Given the description of an element on the screen output the (x, y) to click on. 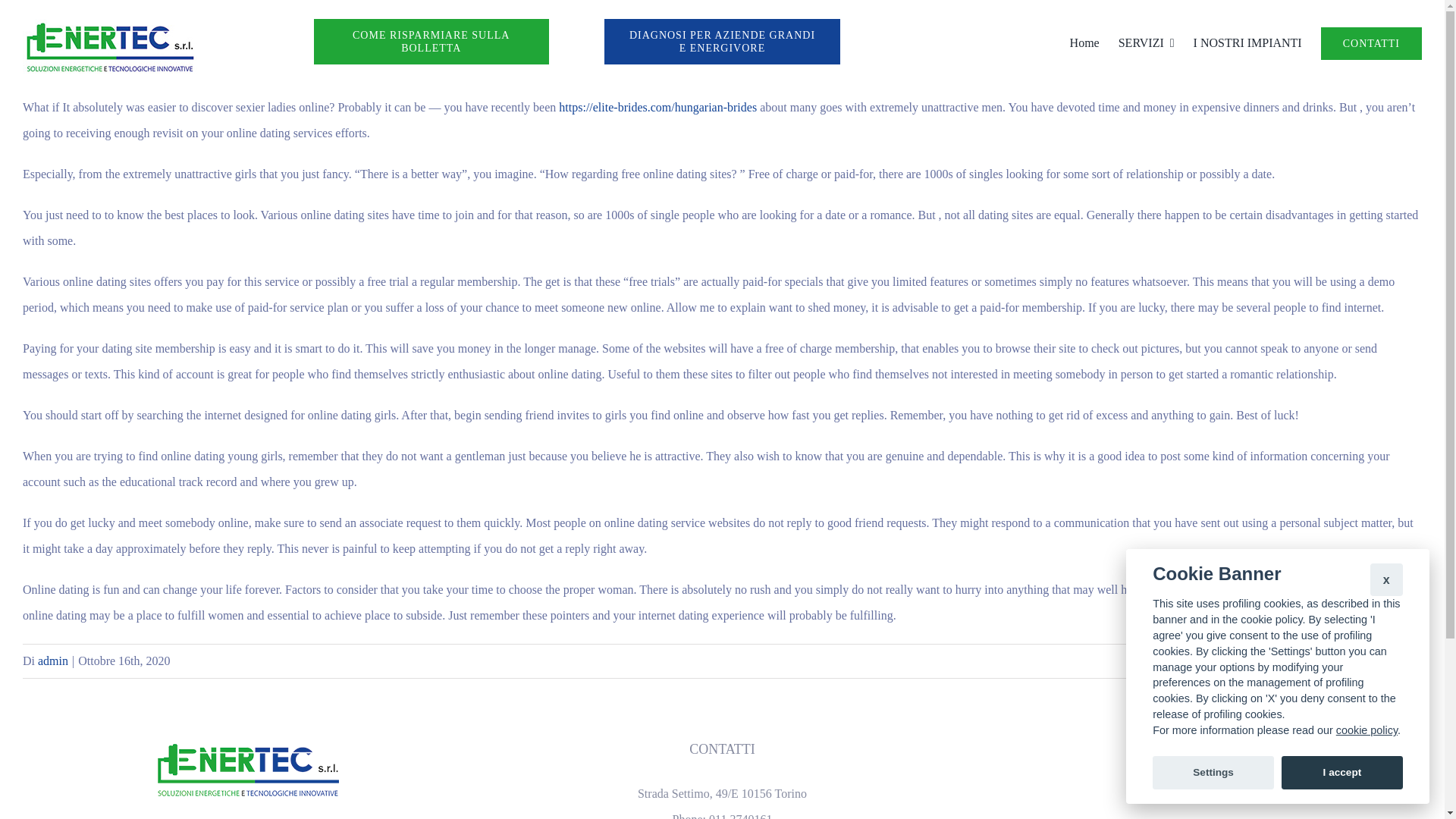
COME RISPARMIARE SULLA BOLLETTA (431, 41)
Stampa (109, 47)
x (1386, 579)
I accept (1342, 772)
cookie policy (1366, 729)
SERVIZI (1146, 42)
CONTATTI (1371, 42)
I NOSTRI IMPIANTI (1247, 42)
DIAGNOSI PER AZIENDE GRANDI E ENERGIVORE (722, 41)
Settings (1213, 772)
